Given the description of an element on the screen output the (x, y) to click on. 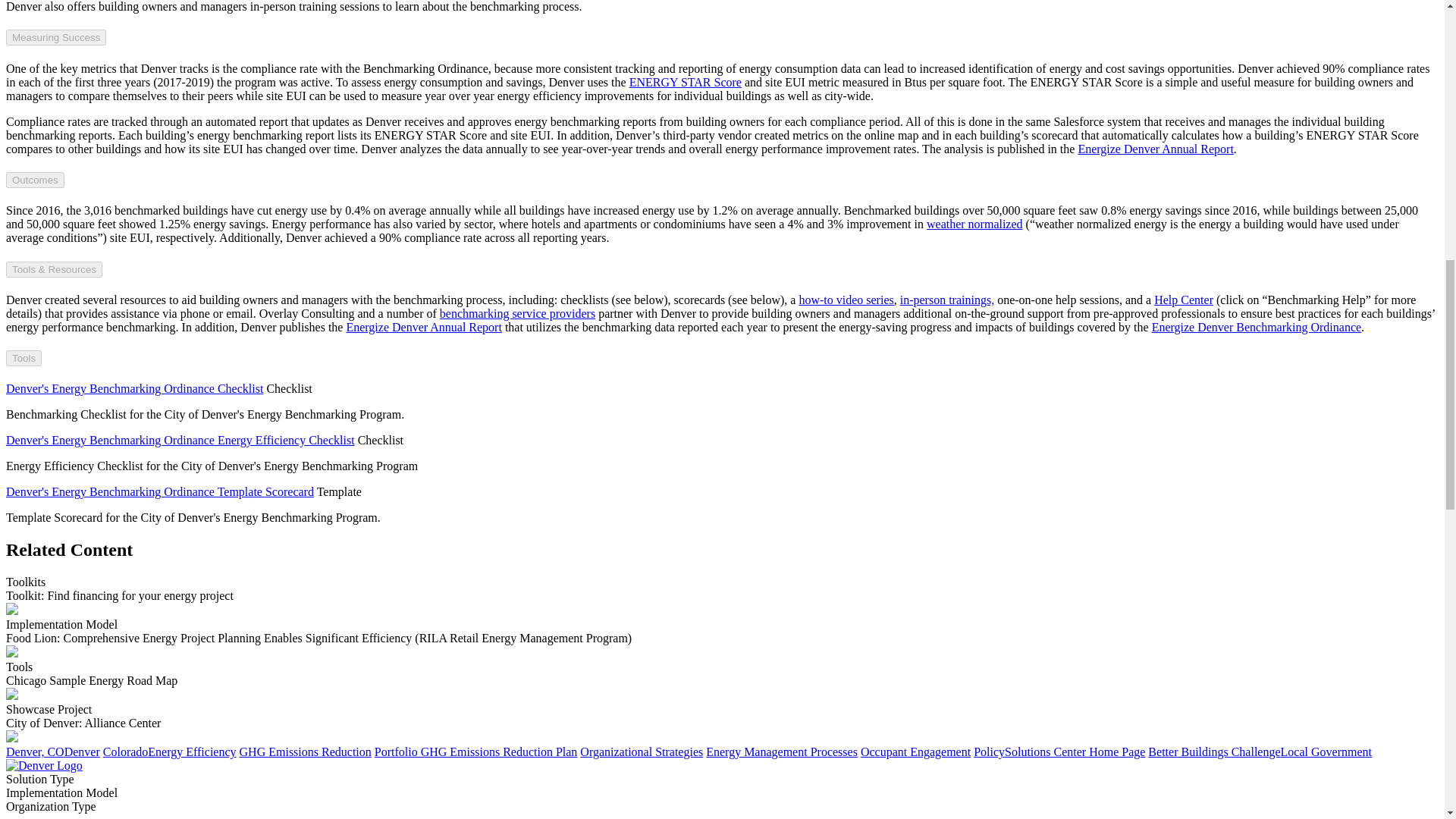
in-person trainings, (946, 299)
Measuring Success (55, 37)
weather normalized (974, 223)
benchmarking service providers (517, 313)
Outcomes (11, 738)
Energize Denver Annual Report (34, 179)
Help Center (1155, 148)
ENERGY STAR Score (1183, 299)
